Given the description of an element on the screen output the (x, y) to click on. 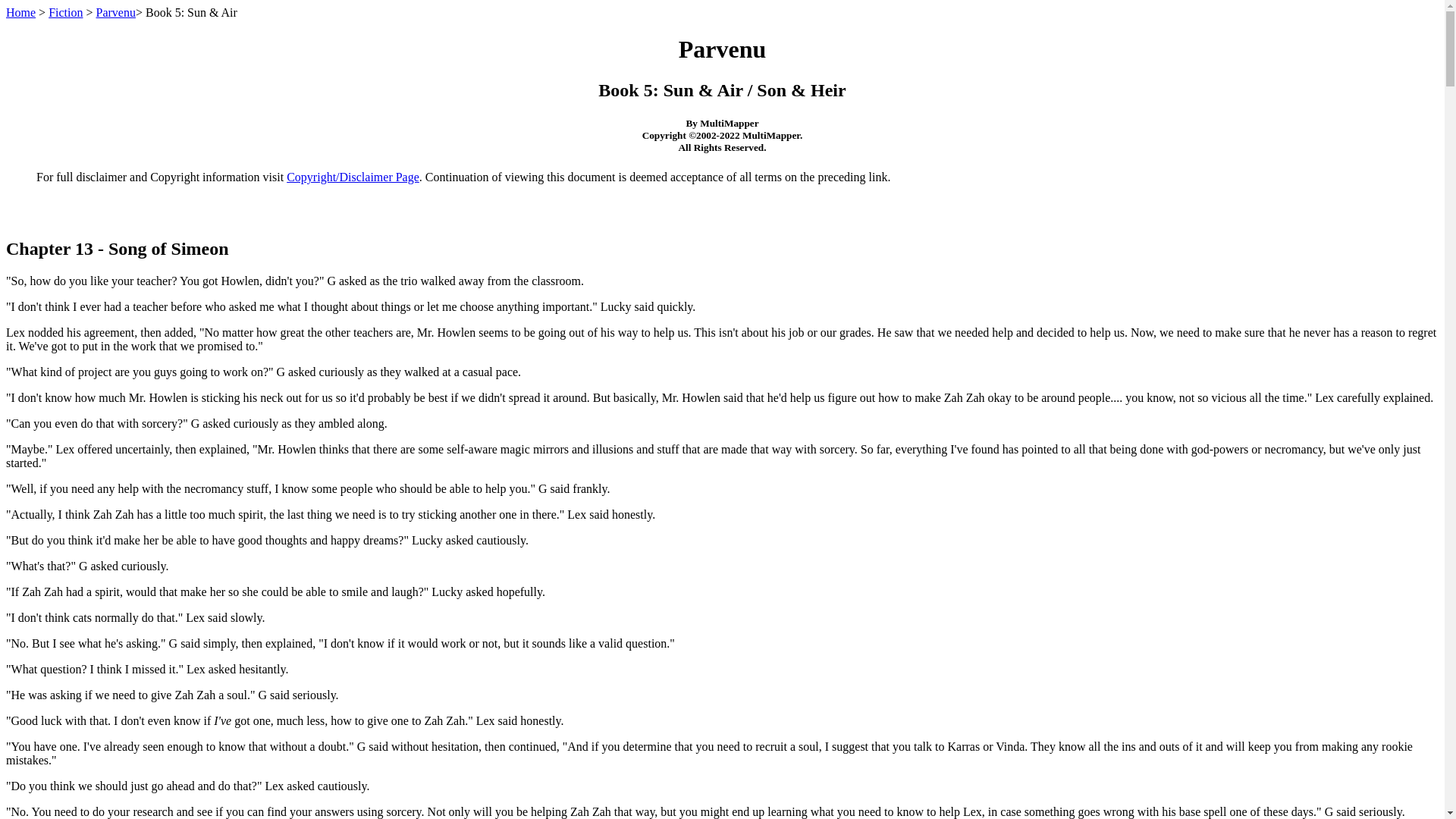
Parvenu (115, 11)
Fiction (65, 11)
Home (19, 11)
